Given the description of an element on the screen output the (x, y) to click on. 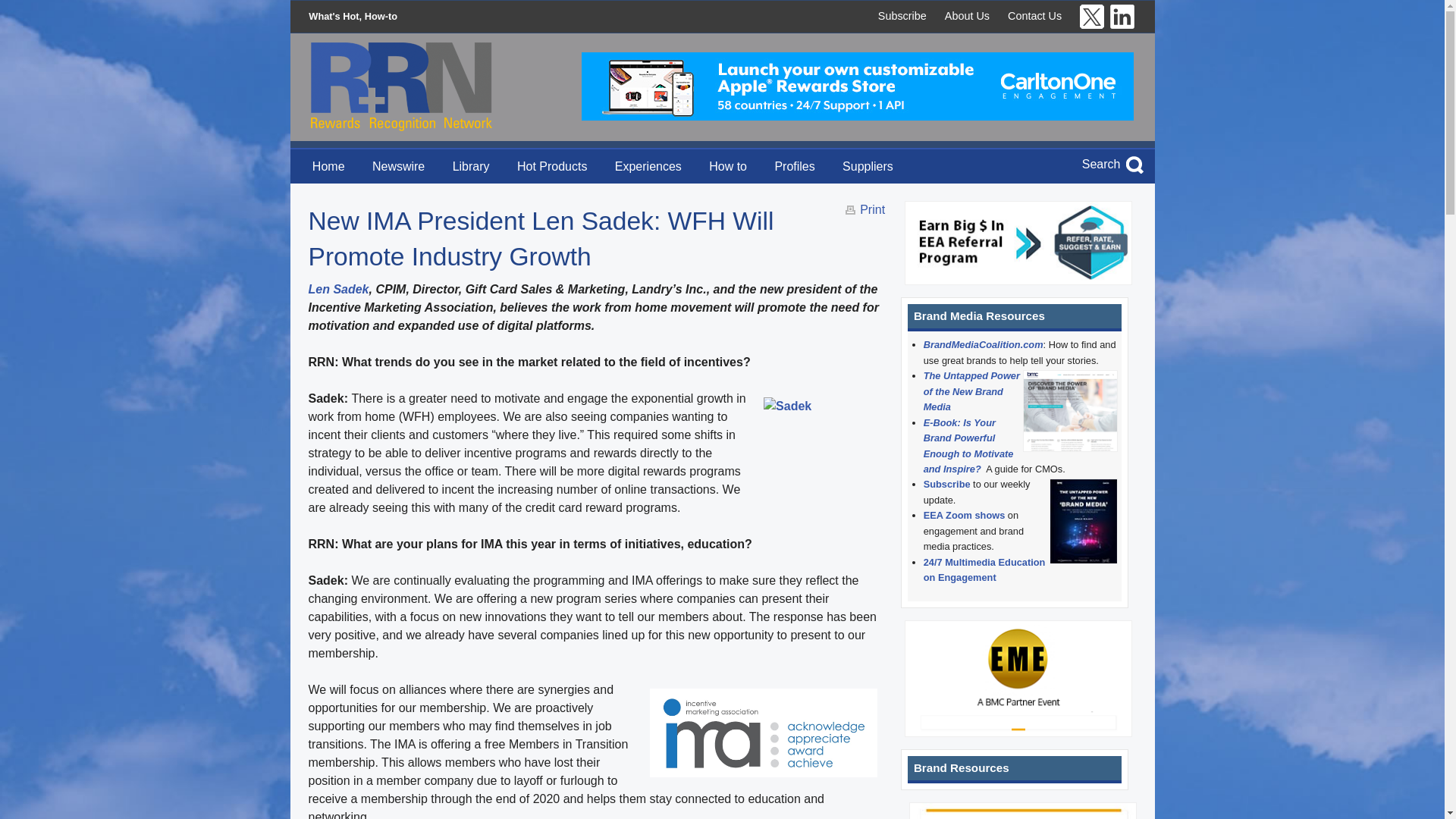
Print (872, 209)
About Us (967, 15)
Library (470, 166)
Newswire (398, 166)
Contact Us (1034, 15)
Len Sadek (337, 288)
Search (1101, 164)
Experiences (648, 166)
Suppliers (867, 166)
Subscribe (901, 15)
Hot Products (551, 166)
How to (727, 166)
Home (328, 166)
Profiles (793, 166)
